Given the description of an element on the screen output the (x, y) to click on. 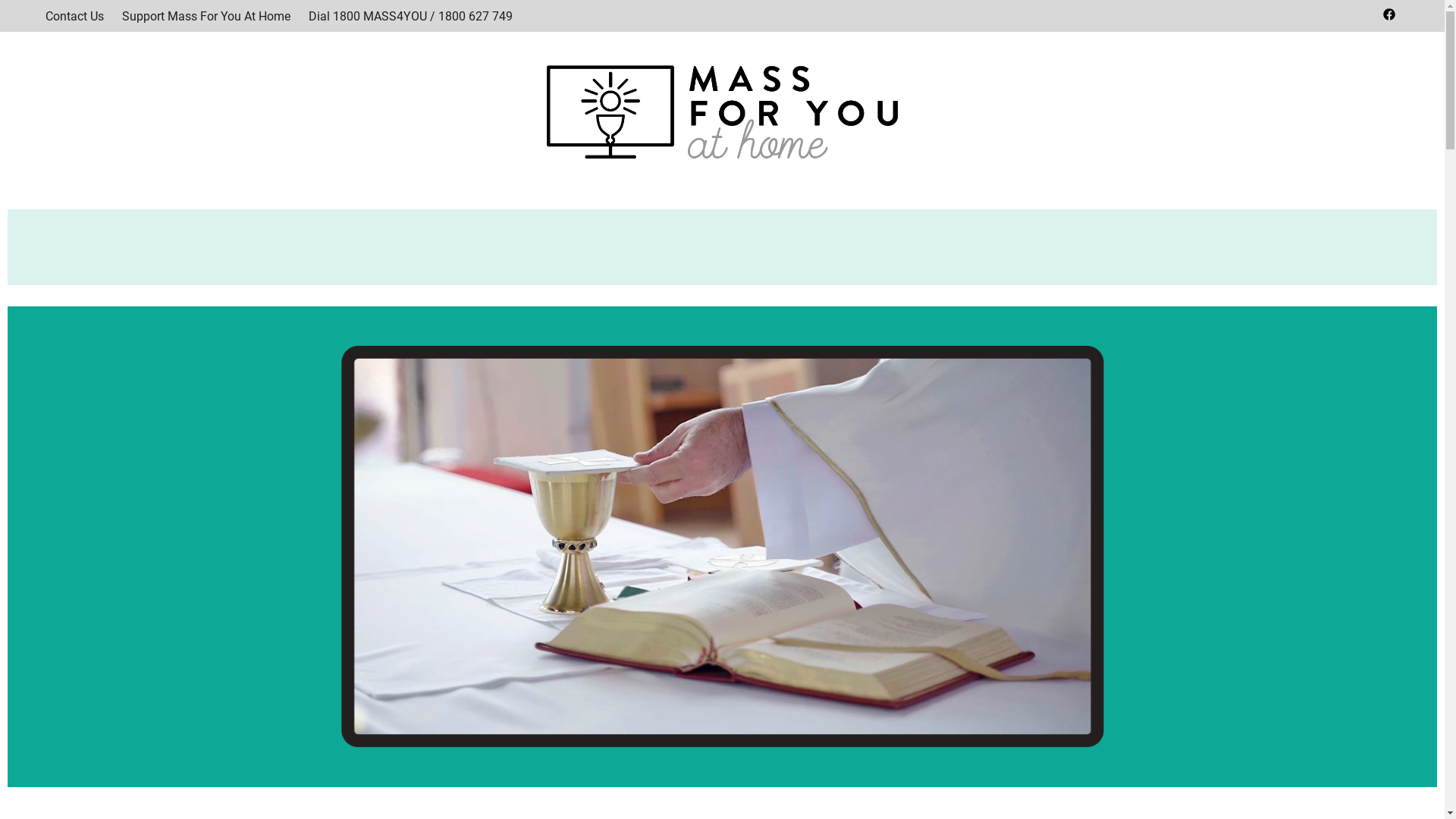
Mass for You at Home Element type: text (441, 179)
Support Mass For You At Home Element type: text (206, 16)
Dial 1800 MASS4YOU / 1800 627 749 Element type: text (410, 16)
Contact Us Element type: text (74, 16)
